Given the description of an element on the screen output the (x, y) to click on. 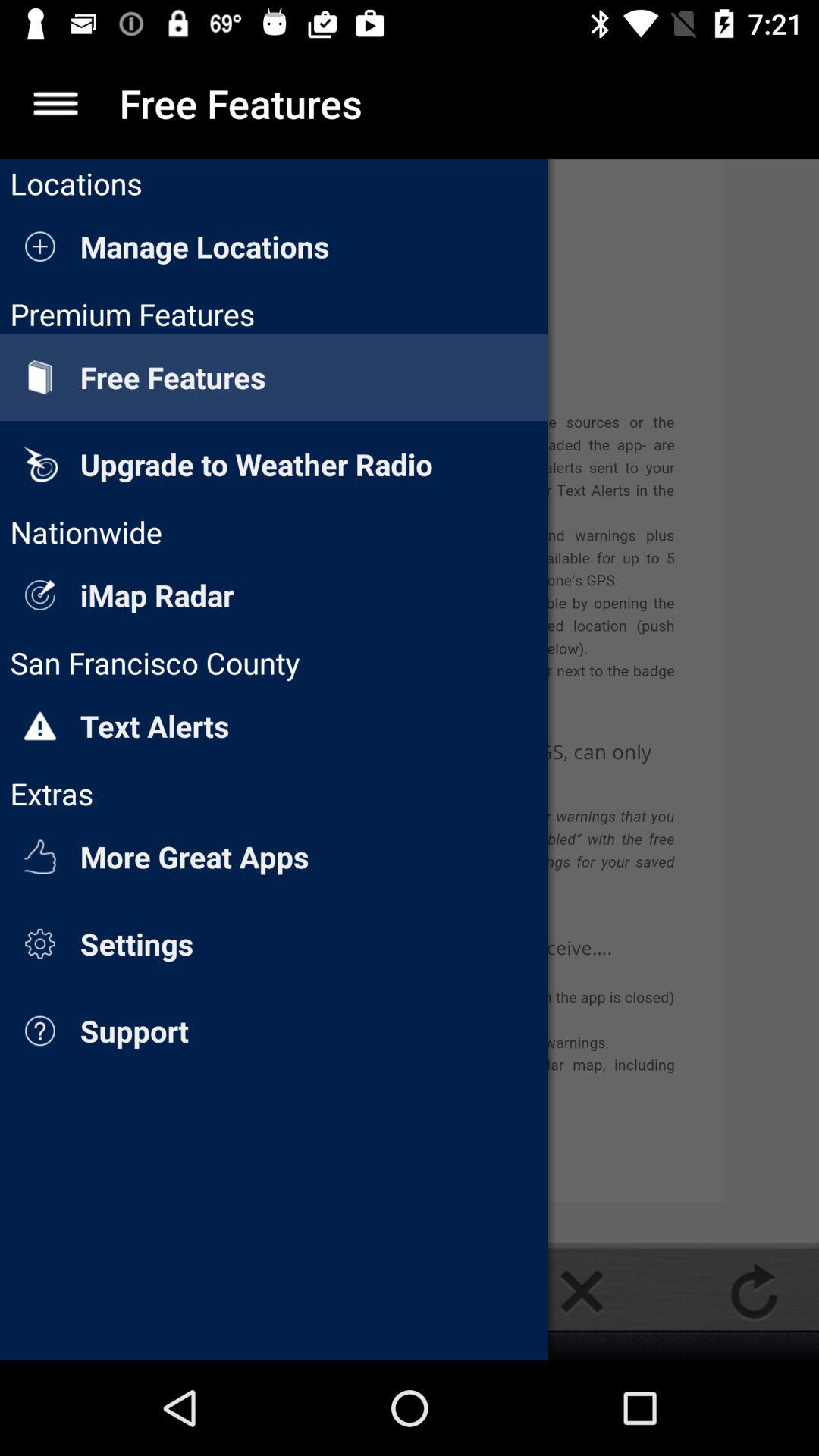
close document (581, 1291)
